Given the description of an element on the screen output the (x, y) to click on. 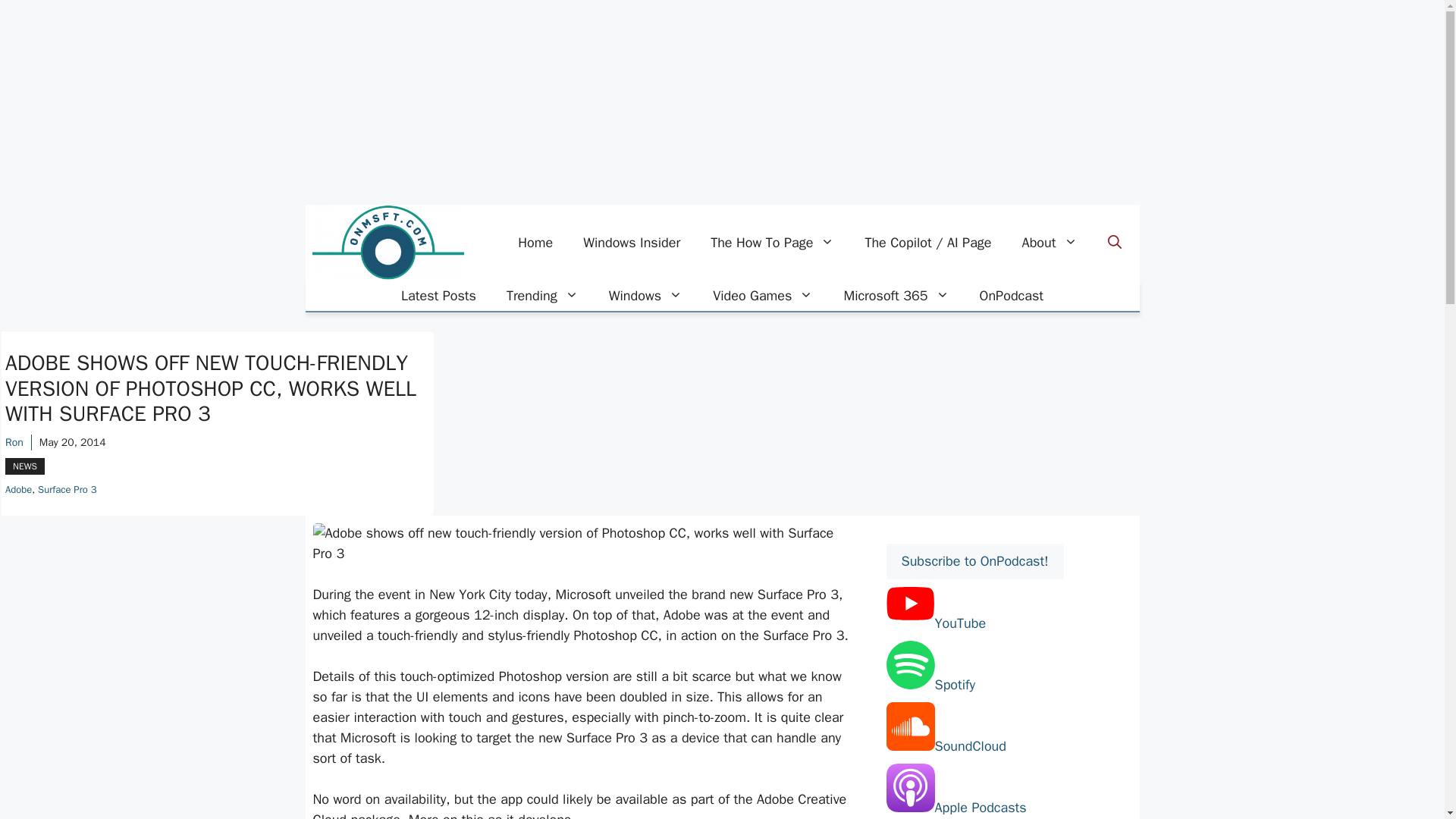
About (1050, 242)
Windows (645, 295)
Latest Posts (438, 295)
Trending (543, 295)
Home (534, 242)
The How To Page (771, 242)
Video Games (762, 295)
